Given the description of an element on the screen output the (x, y) to click on. 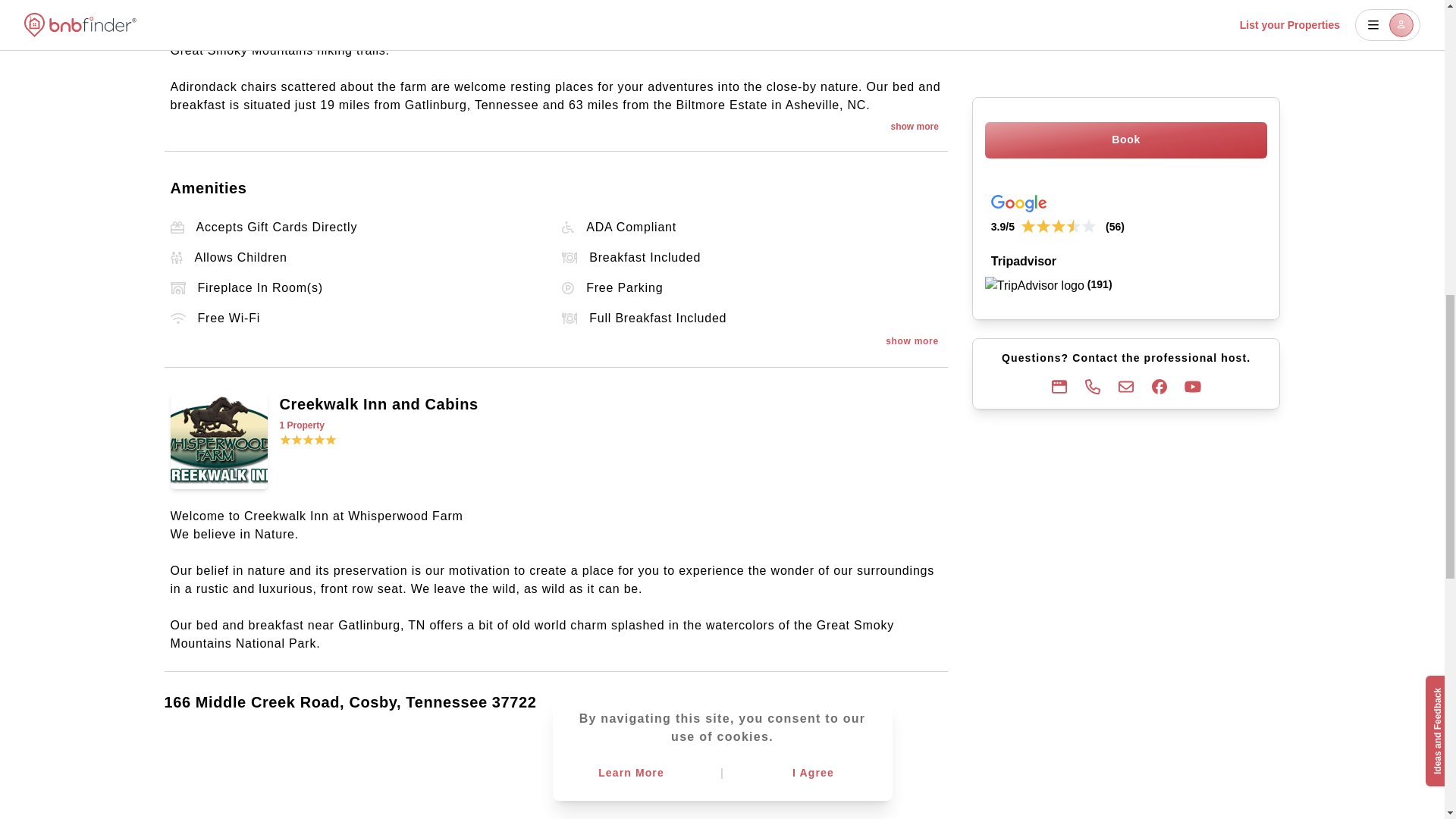
show more (911, 340)
show more (913, 126)
1 Property (609, 425)
